Given the description of an element on the screen output the (x, y) to click on. 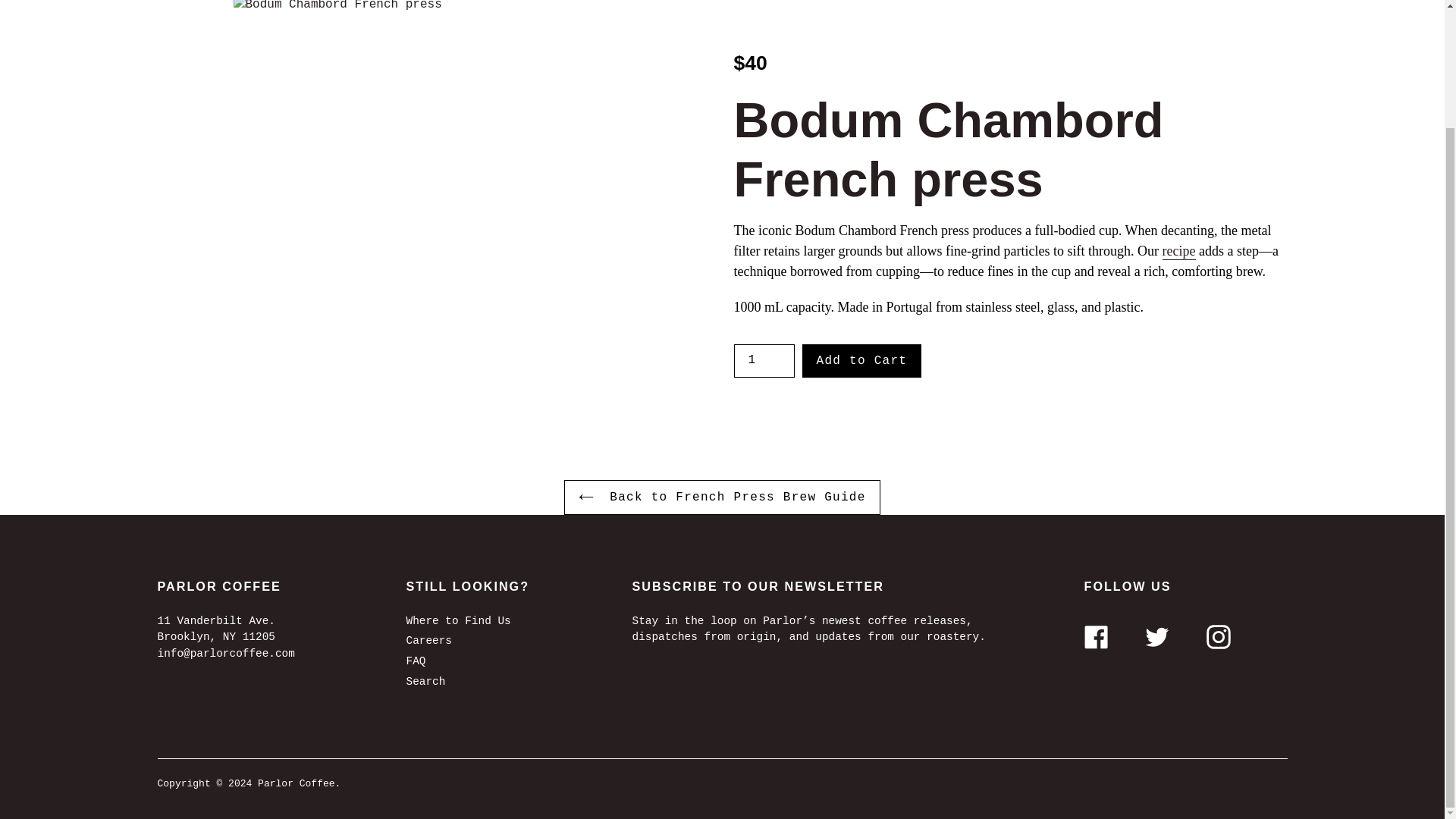
Page 1 (1010, 268)
French Press Brew Guide (1178, 251)
1 (763, 360)
